Given the description of an element on the screen output the (x, y) to click on. 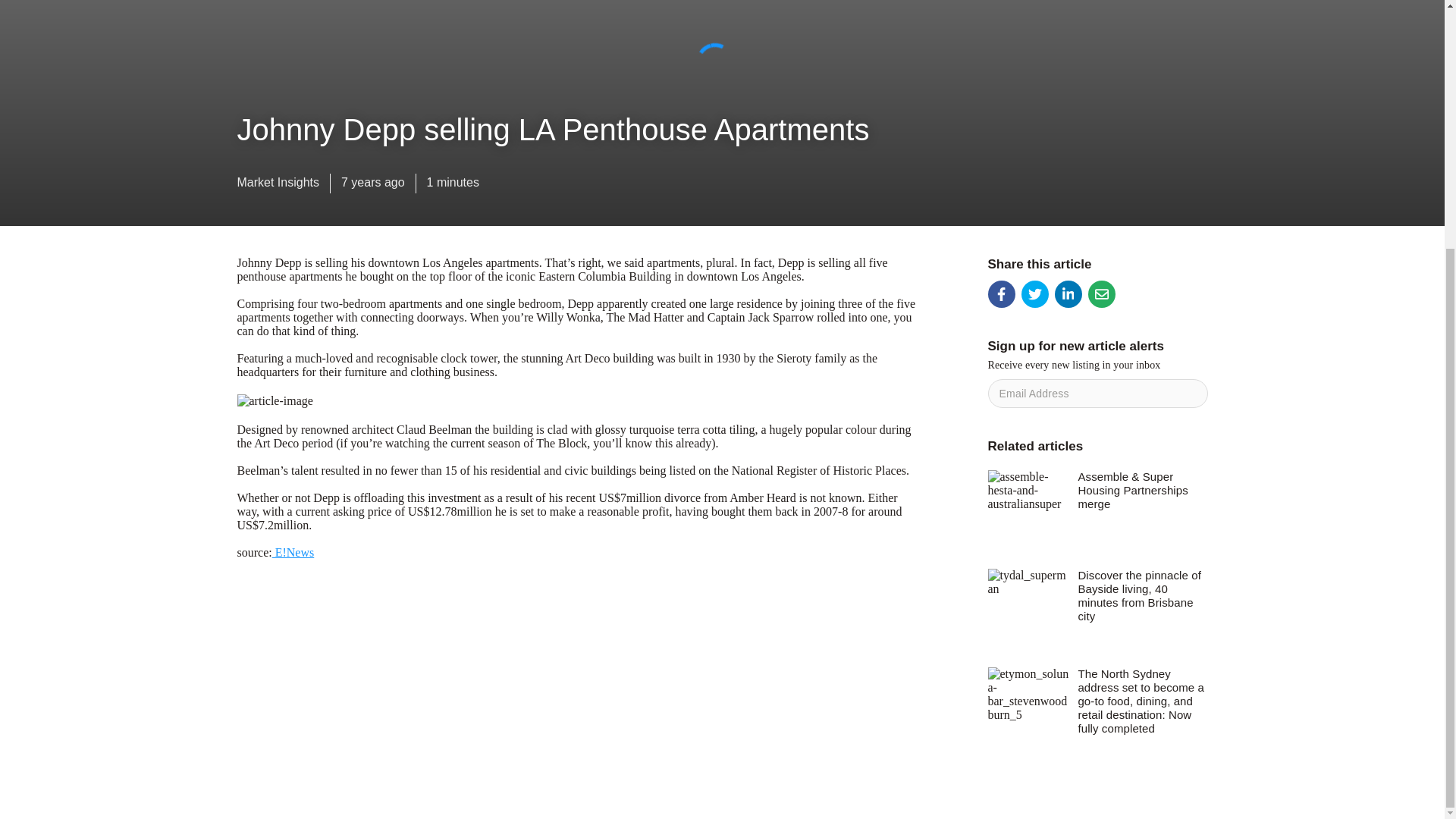
E!News (293, 552)
Market Insights (276, 185)
